Given the description of an element on the screen output the (x, y) to click on. 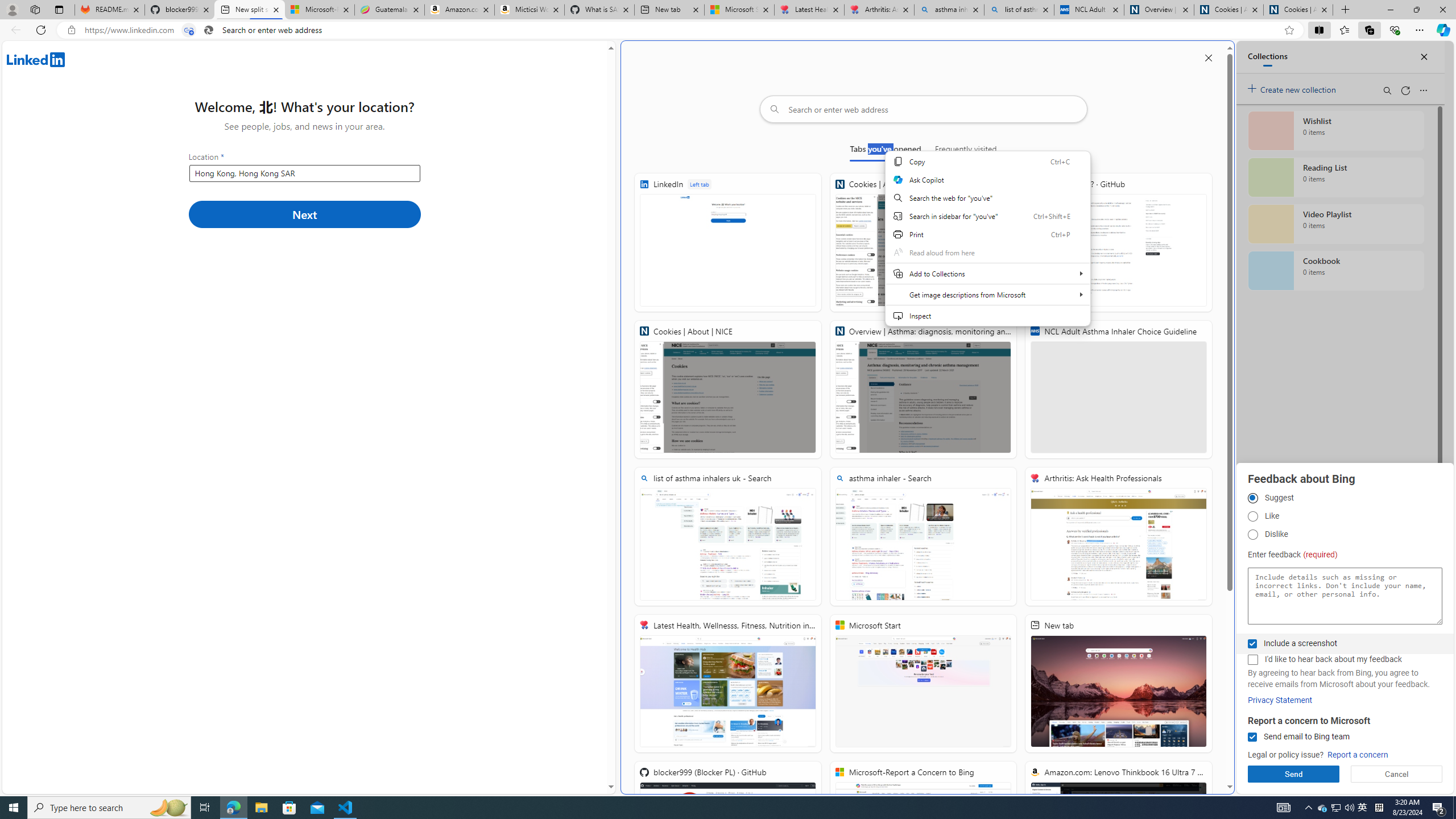
Close split screen (1208, 57)
I'd like to hear back about my feedback (1252, 659)
Print (987, 234)
Cancel (1396, 773)
